Given the description of an element on the screen output the (x, y) to click on. 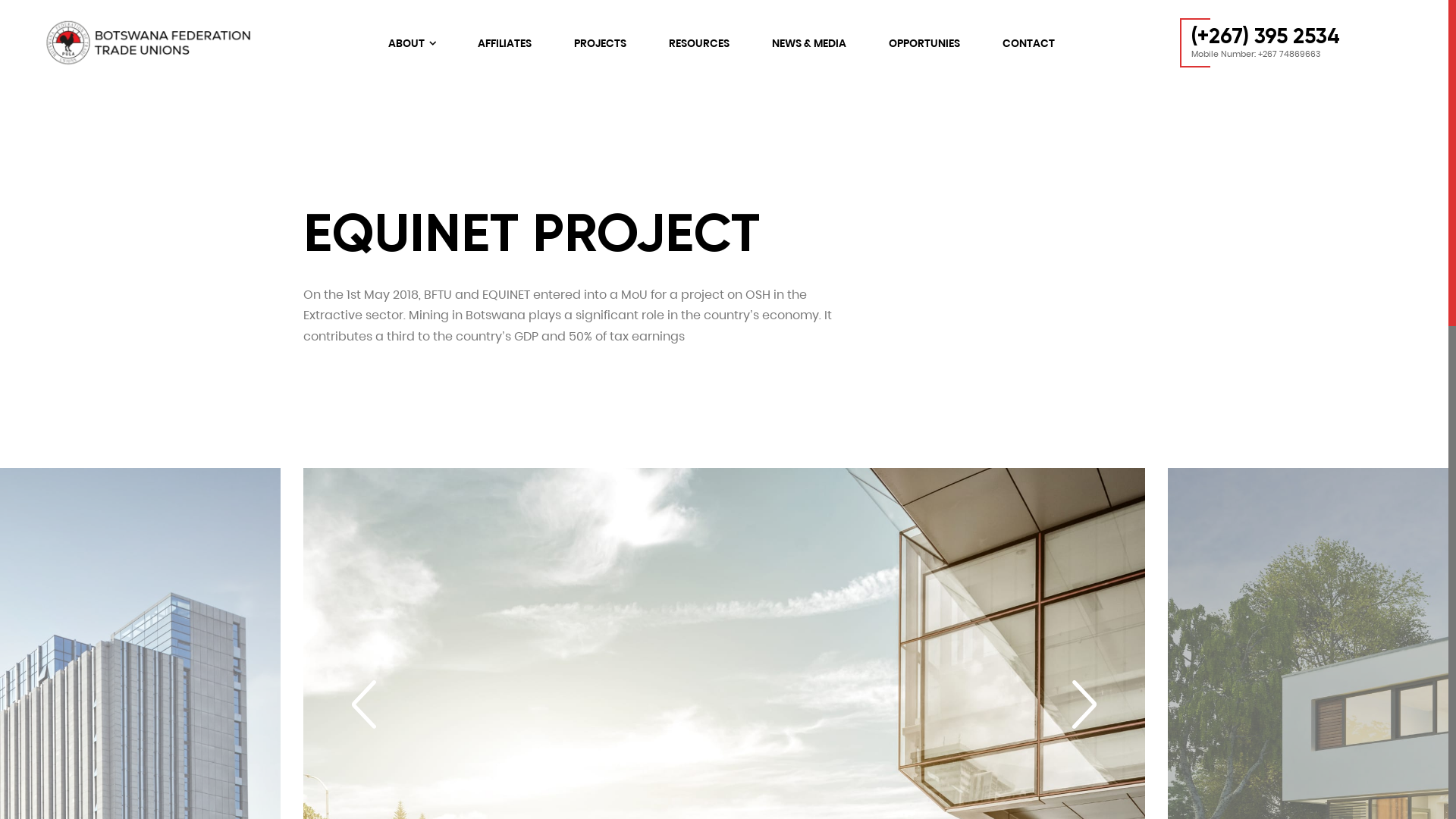
OPPORTUNIES Element type: text (924, 42)
Youtube Element type: hover (1320, 513)
logo web-01 Element type: hover (154, 43)
Contact Element type: text (612, 702)
News & Media Element type: text (629, 645)
About Element type: text (605, 511)
ABOUT Element type: text (411, 42)
(+267) 395 2534
Mobile Number: +267 74869663 Element type: text (1259, 42)
Facebook Element type: hover (1252, 513)
Resources Element type: text (618, 616)
Projects Element type: text (611, 588)
Opportunies Element type: text (624, 673)
NEWS & MEDIA Element type: text (808, 42)
Terms & Conditions Element type: text (964, 511)
CONTACT Element type: text (1028, 42)
Privacy Policy Element type: text (947, 539)
Executive Board Element type: text (666, 531)
Affiliates Element type: text (613, 560)
AFFILIATES Element type: text (504, 42)
PROJECTS Element type: text (600, 42)
Twitter Element type: hover (1286, 513)
RESOURCES Element type: text (698, 42)
